Given the description of an element on the screen output the (x, y) to click on. 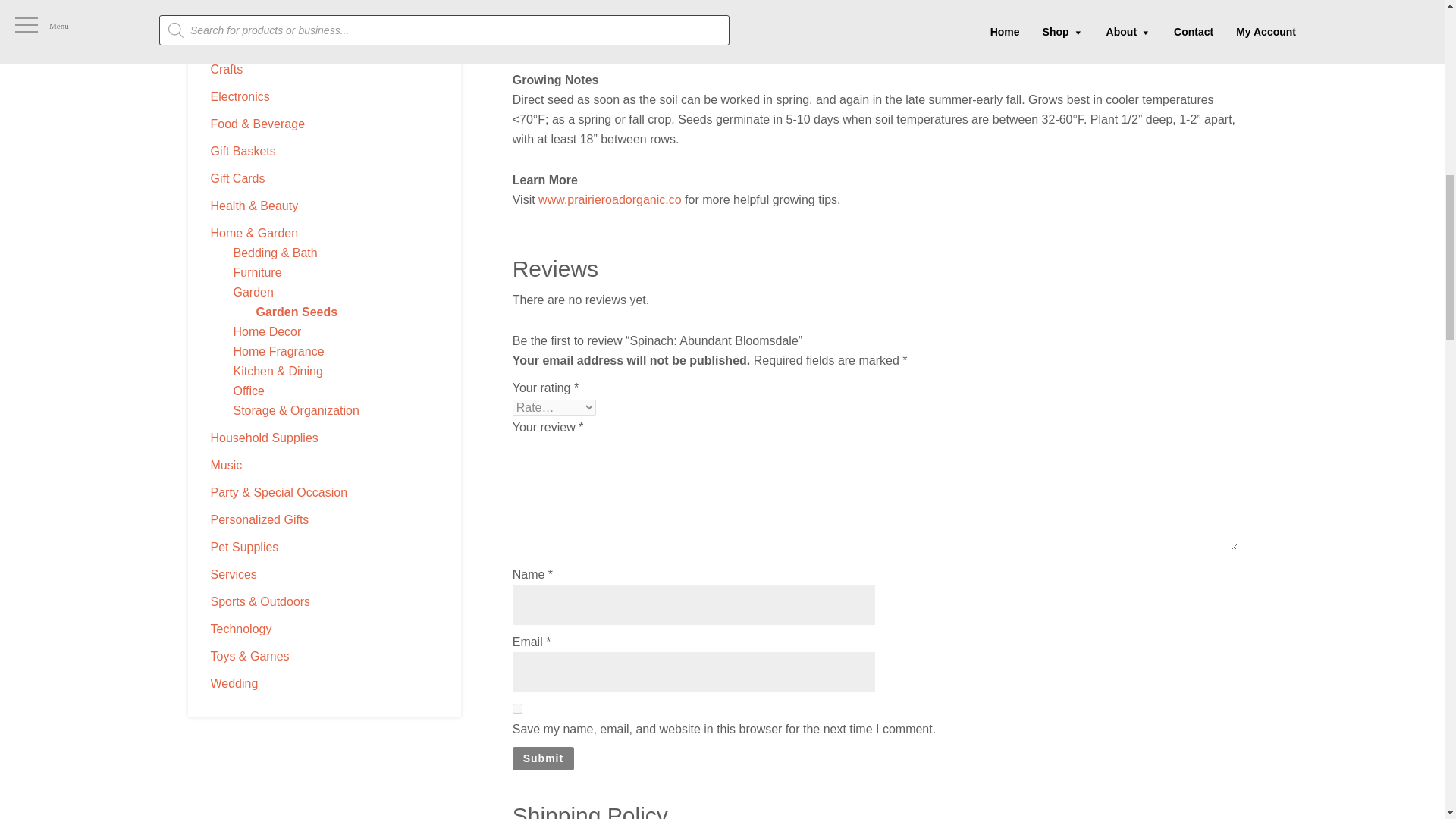
Garden Seeds (296, 311)
Crafts (227, 69)
yes (517, 708)
Garden (252, 291)
Home Fragrance (278, 350)
Gift Baskets (243, 151)
Furniture (257, 272)
Books (227, 42)
Home Decor (266, 331)
Electronics (240, 96)
